Given the description of an element on the screen output the (x, y) to click on. 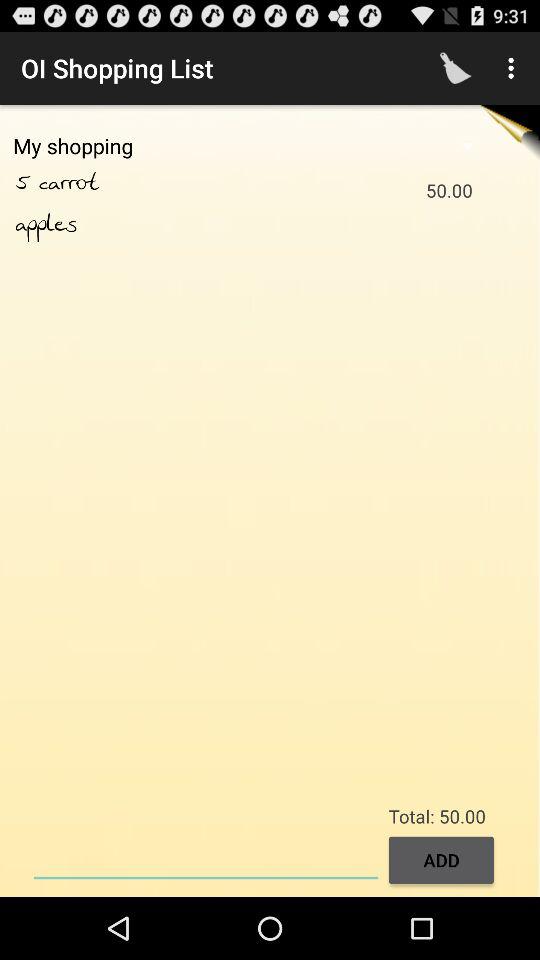
jump until 5  icon (27, 183)
